Given the description of an element on the screen output the (x, y) to click on. 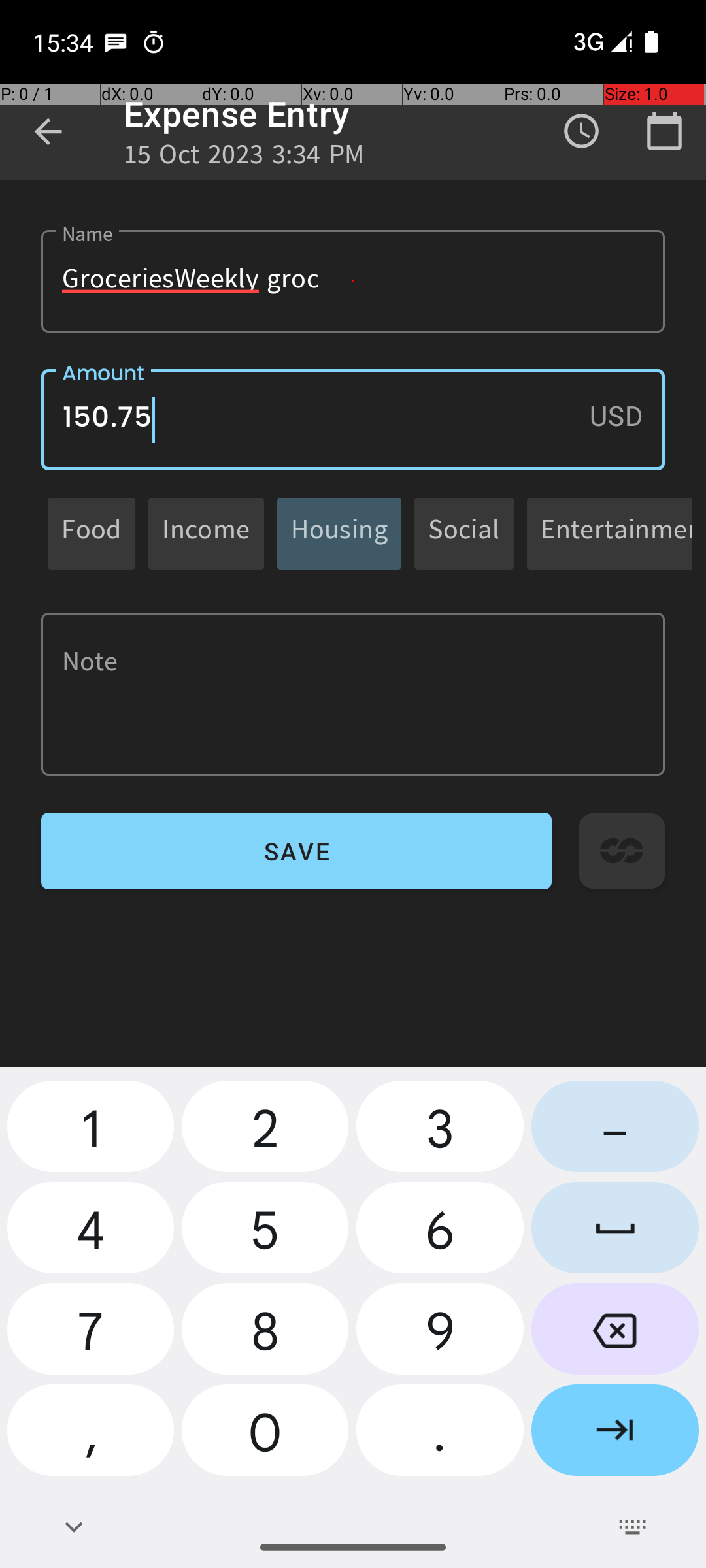
GroceriesWeekly groc Element type: android.widget.EditText (352, 280)
150.75 Element type: android.widget.EditText (352, 419)
